Given the description of an element on the screen output the (x, y) to click on. 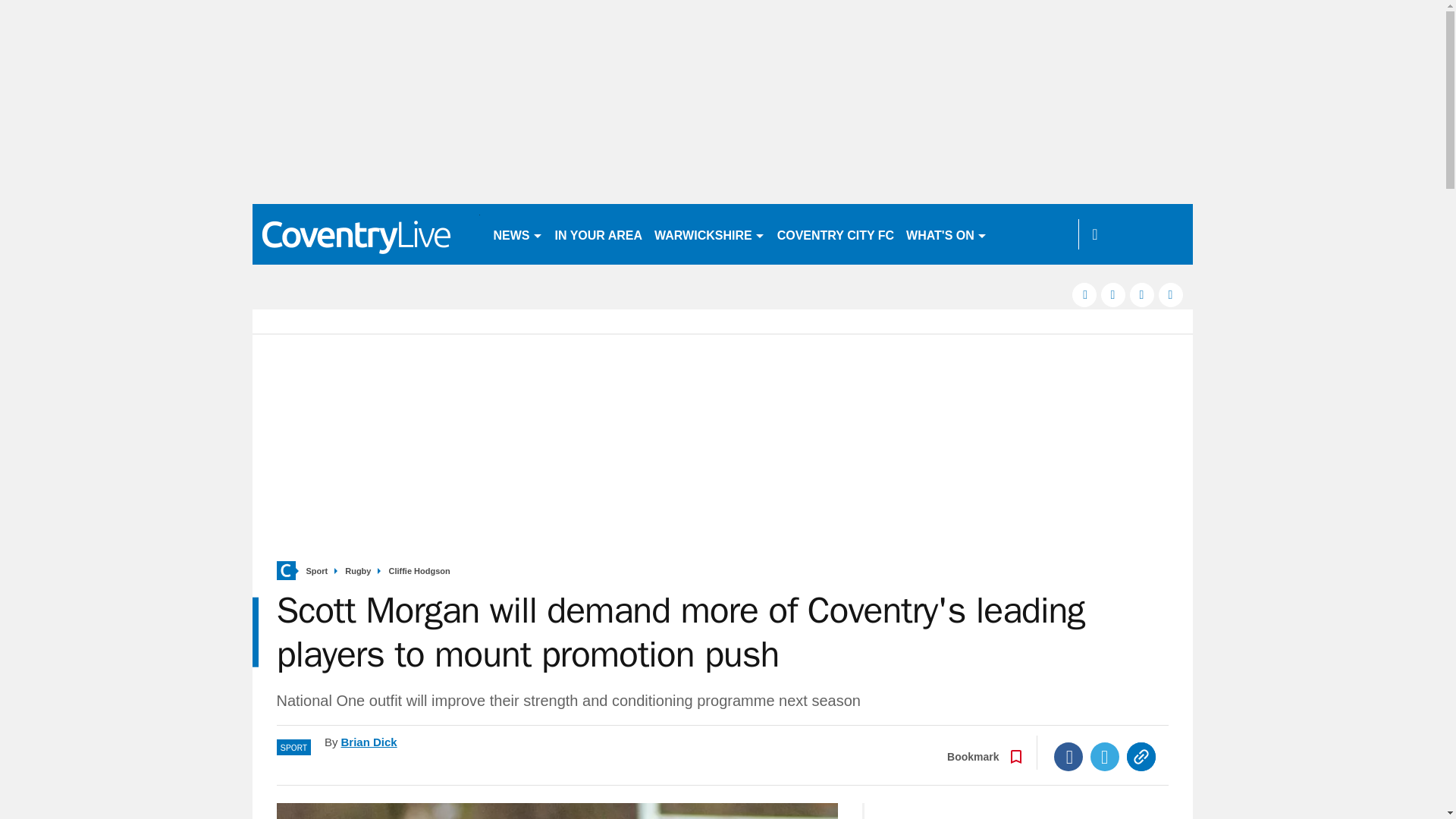
Facebook (1068, 756)
instagram (1170, 294)
WARWICKSHIRE (709, 233)
IN YOUR AREA (598, 233)
WHAT'S ON (945, 233)
facebook (1083, 294)
WASPS RFC (1034, 233)
COVENTRY CITY FC (835, 233)
pinterest (1141, 294)
coventrytelegraph (365, 233)
